Given the description of an element on the screen output the (x, y) to click on. 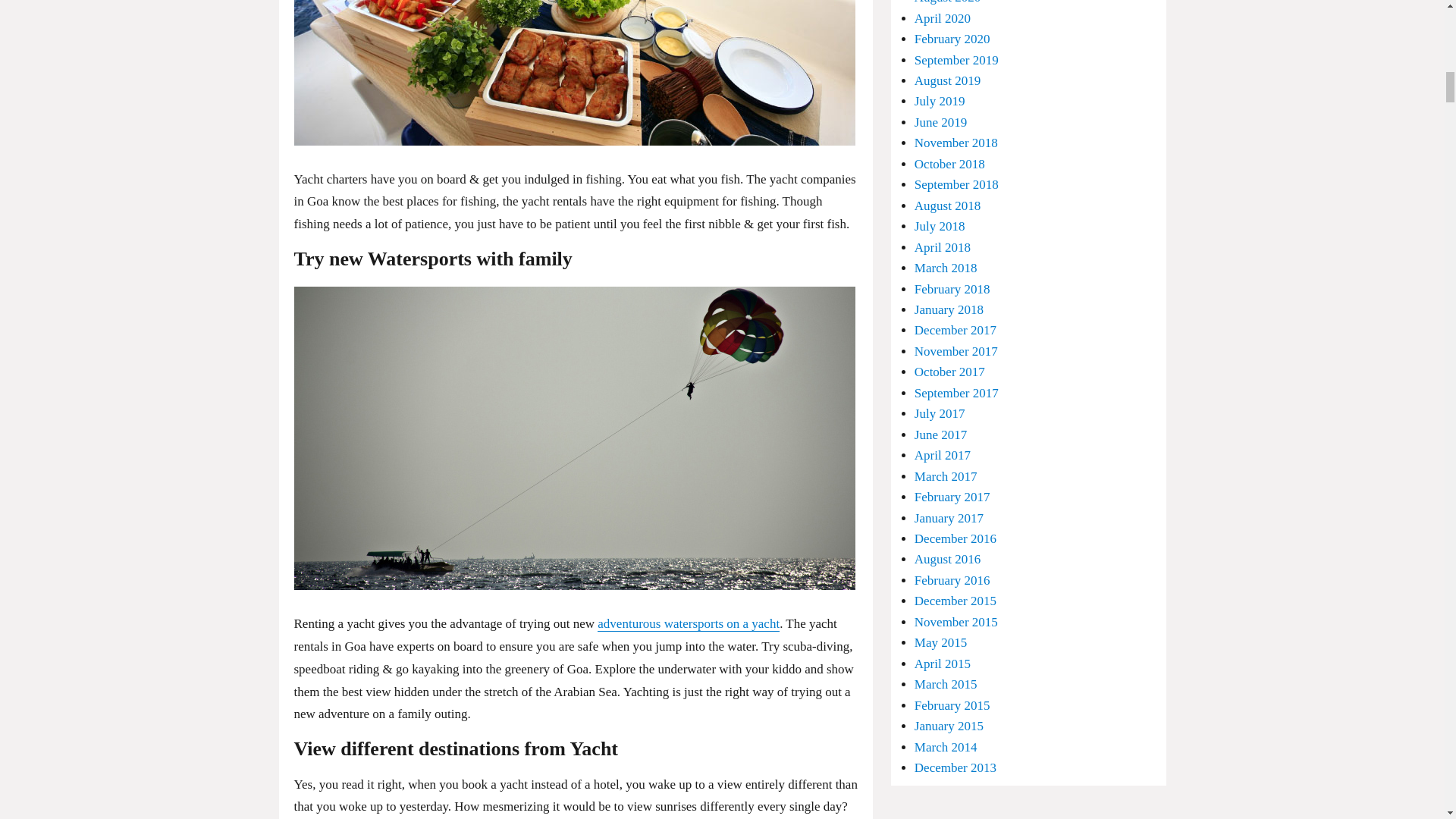
adventurous watersports on a yacht (687, 623)
